Given the description of an element on the screen output the (x, y) to click on. 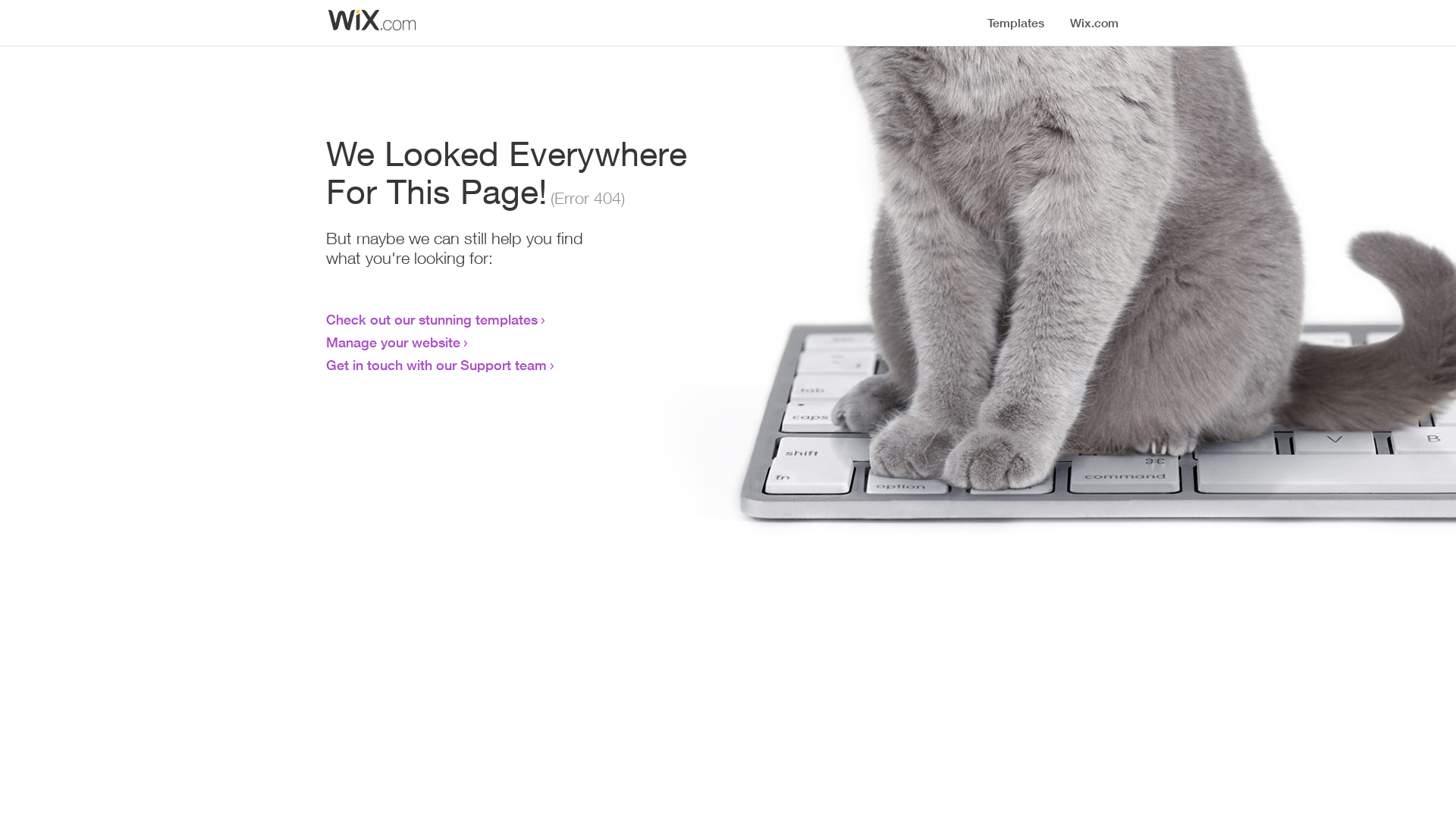
Manage your website Element type: text (393, 341)
Check out our stunning templates Element type: text (431, 318)
Get in touch with our Support team Element type: text (436, 364)
